Given the description of an element on the screen output the (x, y) to click on. 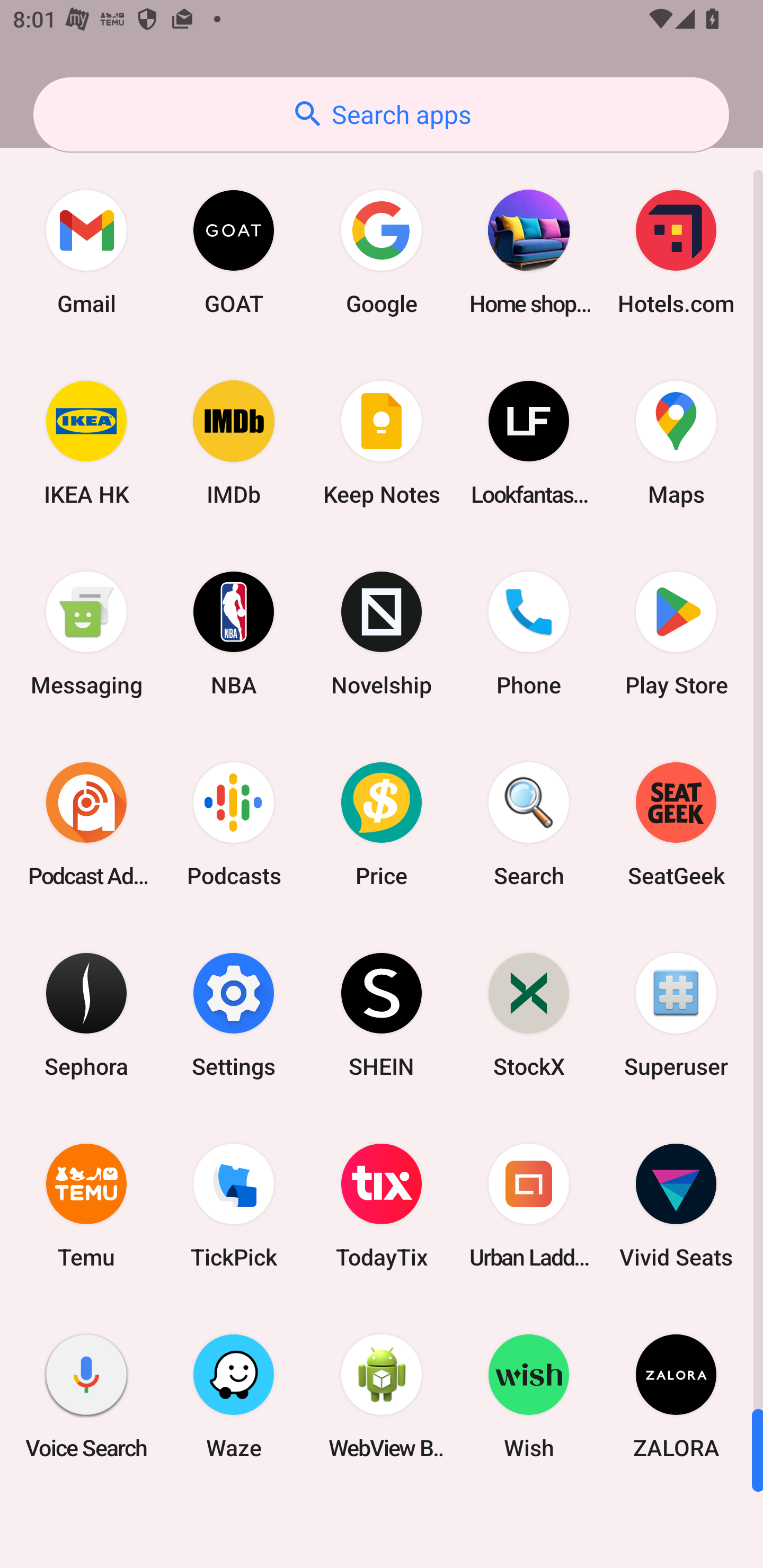
  Search apps (381, 114)
Gmail (86, 252)
GOAT (233, 252)
Google (381, 252)
Home shopping (528, 252)
Hotels.com (676, 252)
IKEA HK (86, 442)
IMDb (233, 442)
Keep Notes (381, 442)
Lookfantastic (528, 442)
Maps (676, 442)
Messaging (86, 633)
NBA (233, 633)
Novelship (381, 633)
Phone (528, 633)
Play Store (676, 633)
Podcast Addict (86, 823)
Podcasts (233, 823)
Price (381, 823)
Search (528, 823)
SeatGeek (676, 823)
Sephora (86, 1014)
Settings (233, 1014)
SHEIN (381, 1014)
StockX (528, 1014)
Superuser (676, 1014)
Temu (86, 1205)
TickPick (233, 1205)
TodayTix (381, 1205)
Urban Ladder (528, 1205)
Vivid Seats (676, 1205)
Voice Search (86, 1396)
Waze (233, 1396)
WebView Browser Tester (381, 1396)
Wish (528, 1396)
ZALORA (676, 1396)
